Given the description of an element on the screen output the (x, y) to click on. 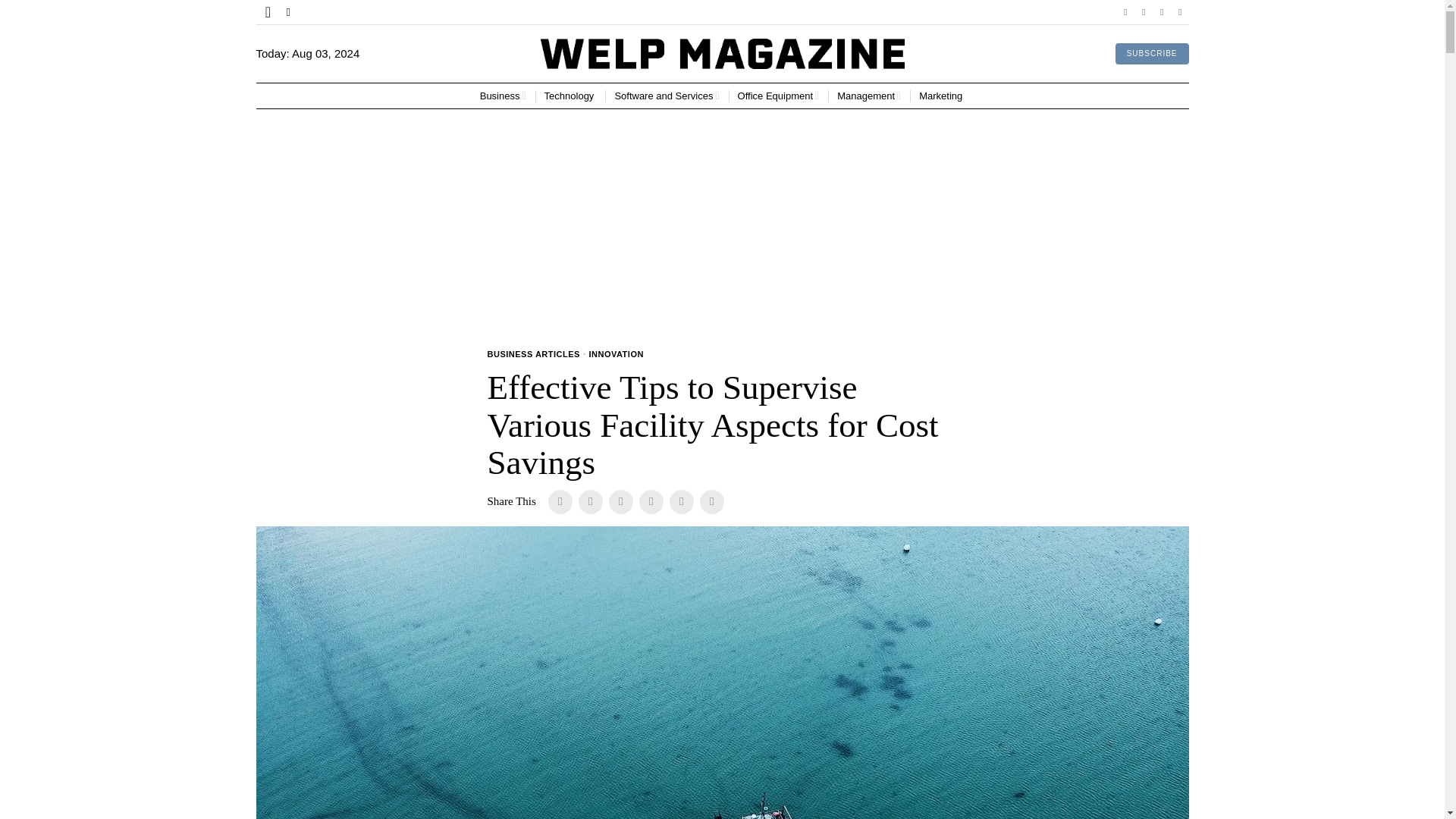
Office Equipment (778, 95)
INNOVATION (615, 354)
BUSINESS ARTICLES (532, 354)
Management (869, 95)
Software and Services (666, 95)
Business (502, 95)
SUBSCRIBE (1152, 53)
Marketing (942, 95)
Technology (570, 95)
